Given the description of an element on the screen output the (x, y) to click on. 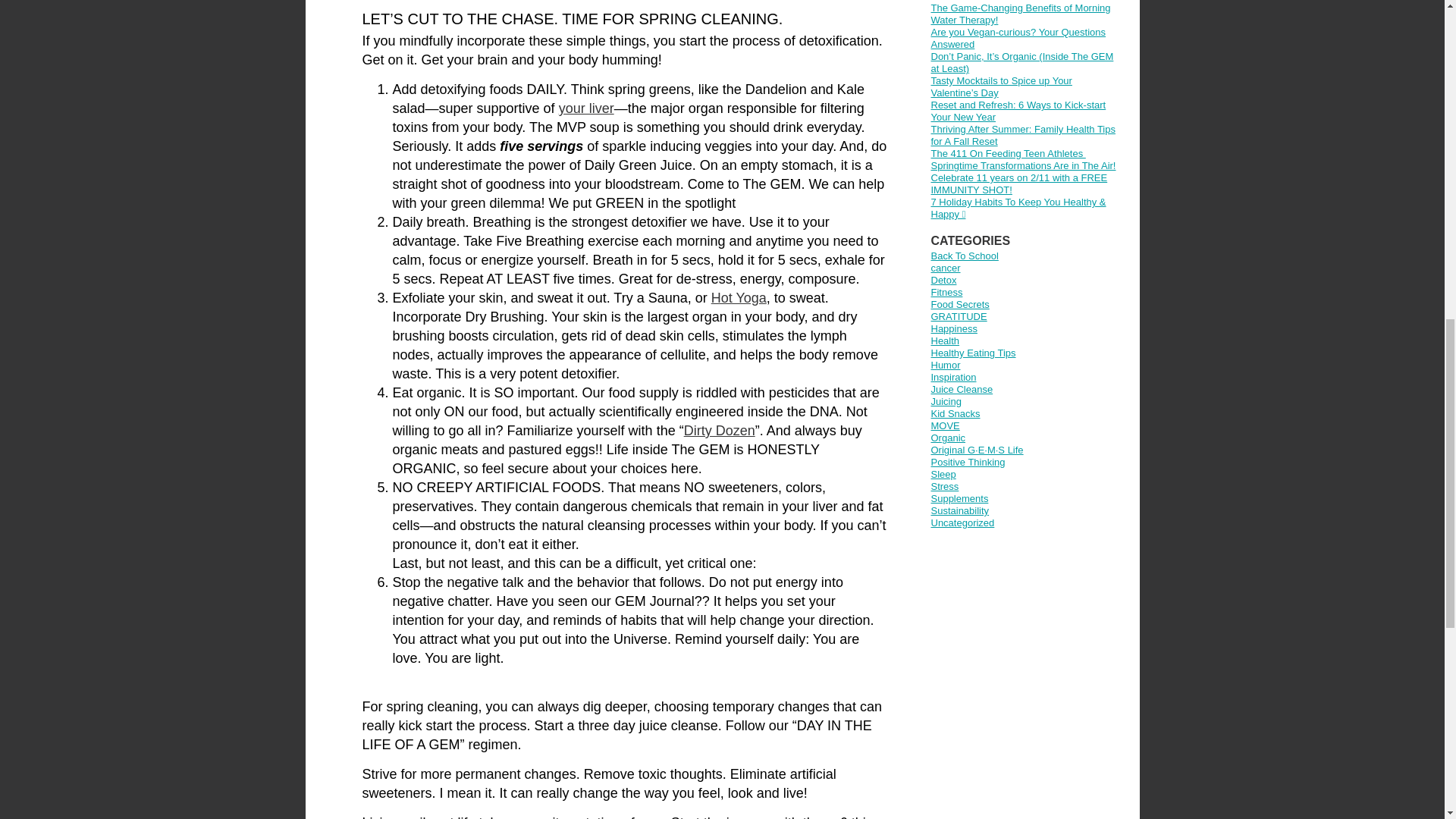
your liver (586, 108)
Dirty Dozen (719, 430)
Hot Yoga (739, 297)
